Given the description of an element on the screen output the (x, y) to click on. 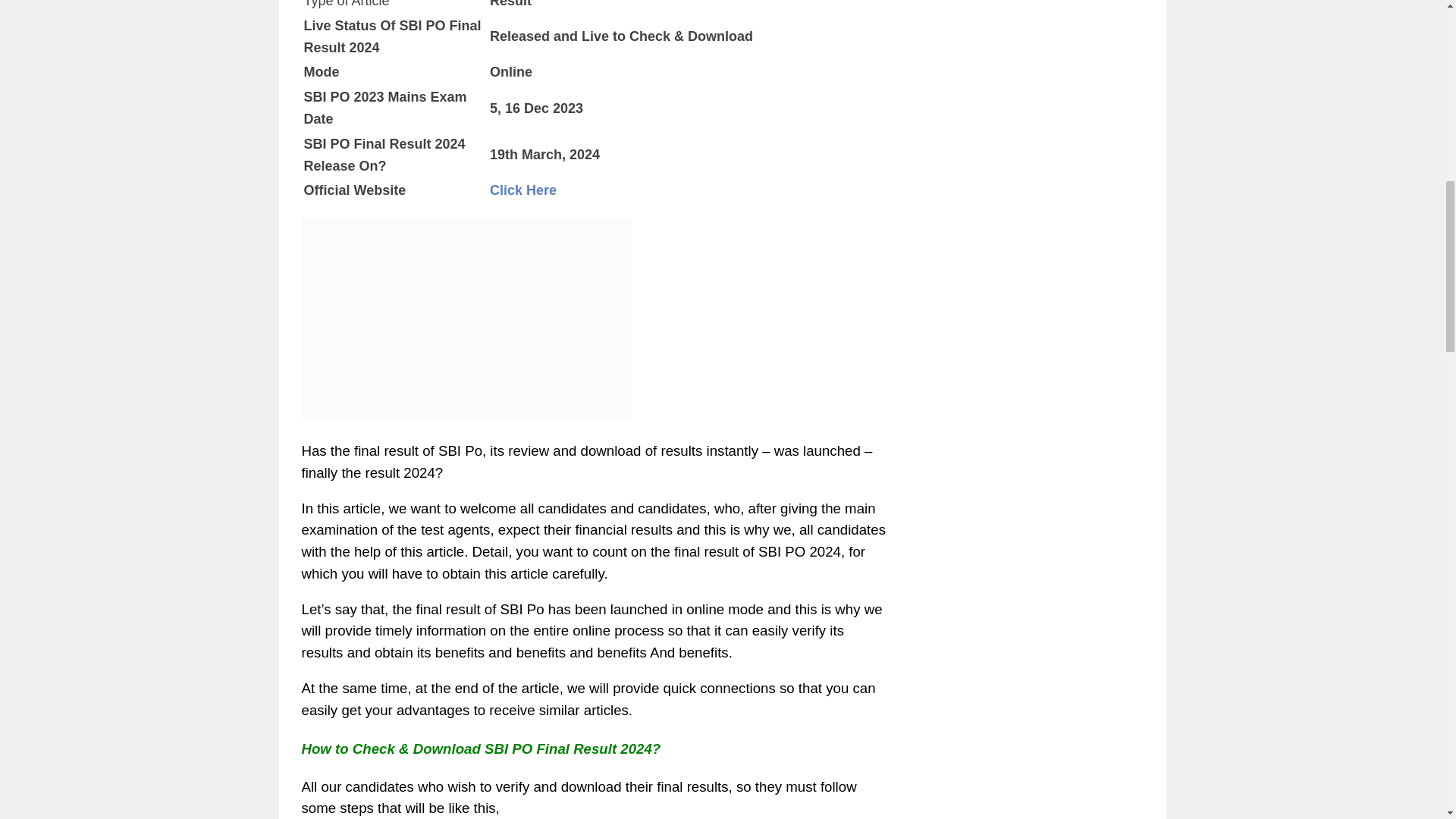
Click Here (522, 190)
